Given the description of an element on the screen output the (x, y) to click on. 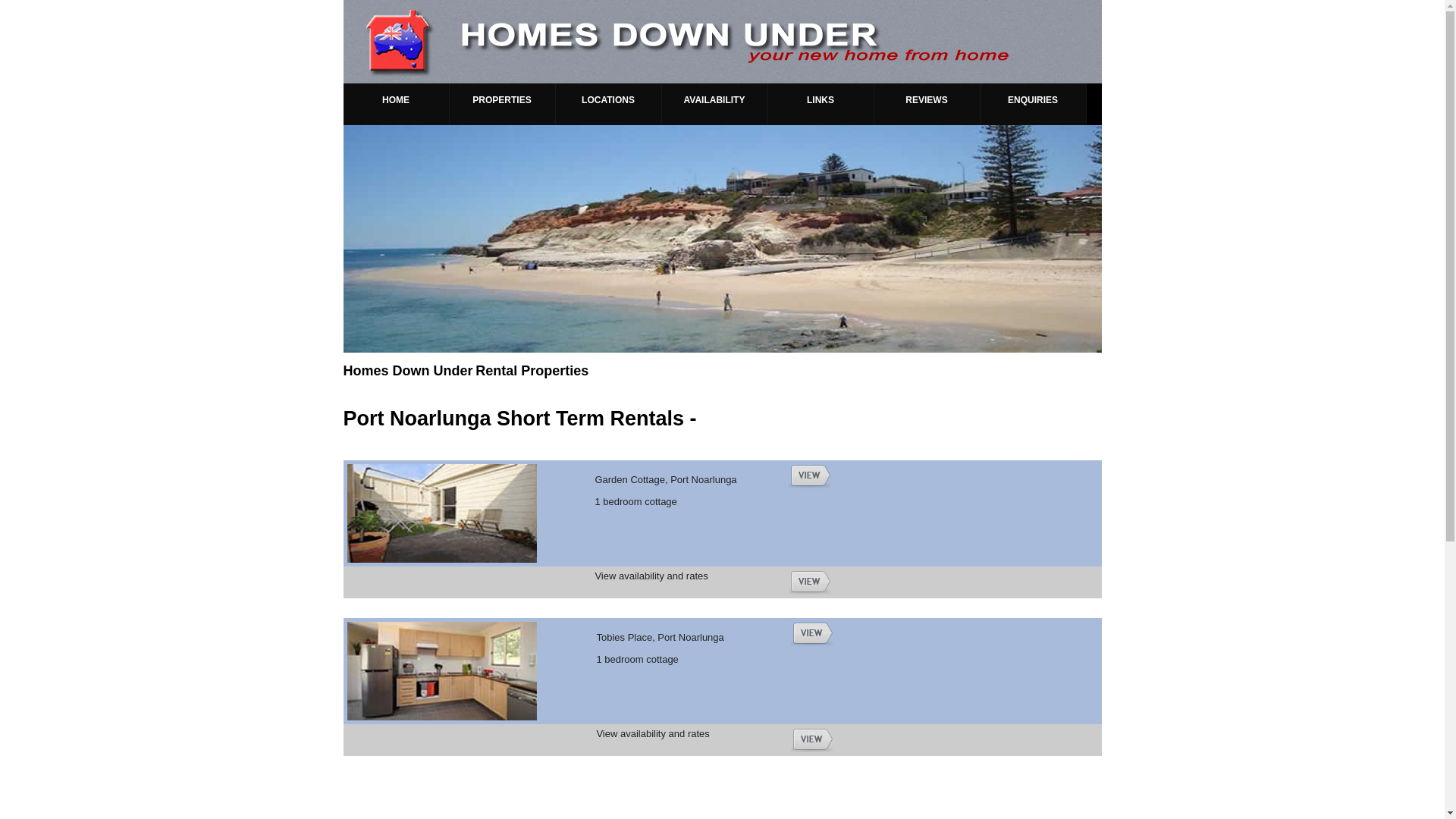
LINKS Element type: text (820, 104)
ENQUIRIES Element type: text (1032, 104)
HOME Element type: text (395, 104)
LOCATIONS Element type: text (608, 104)
PROPERTIES Element type: text (501, 104)
REVIEWS Element type: text (926, 104)
AVAILABILITY Element type: text (714, 104)
